Given the description of an element on the screen output the (x, y) to click on. 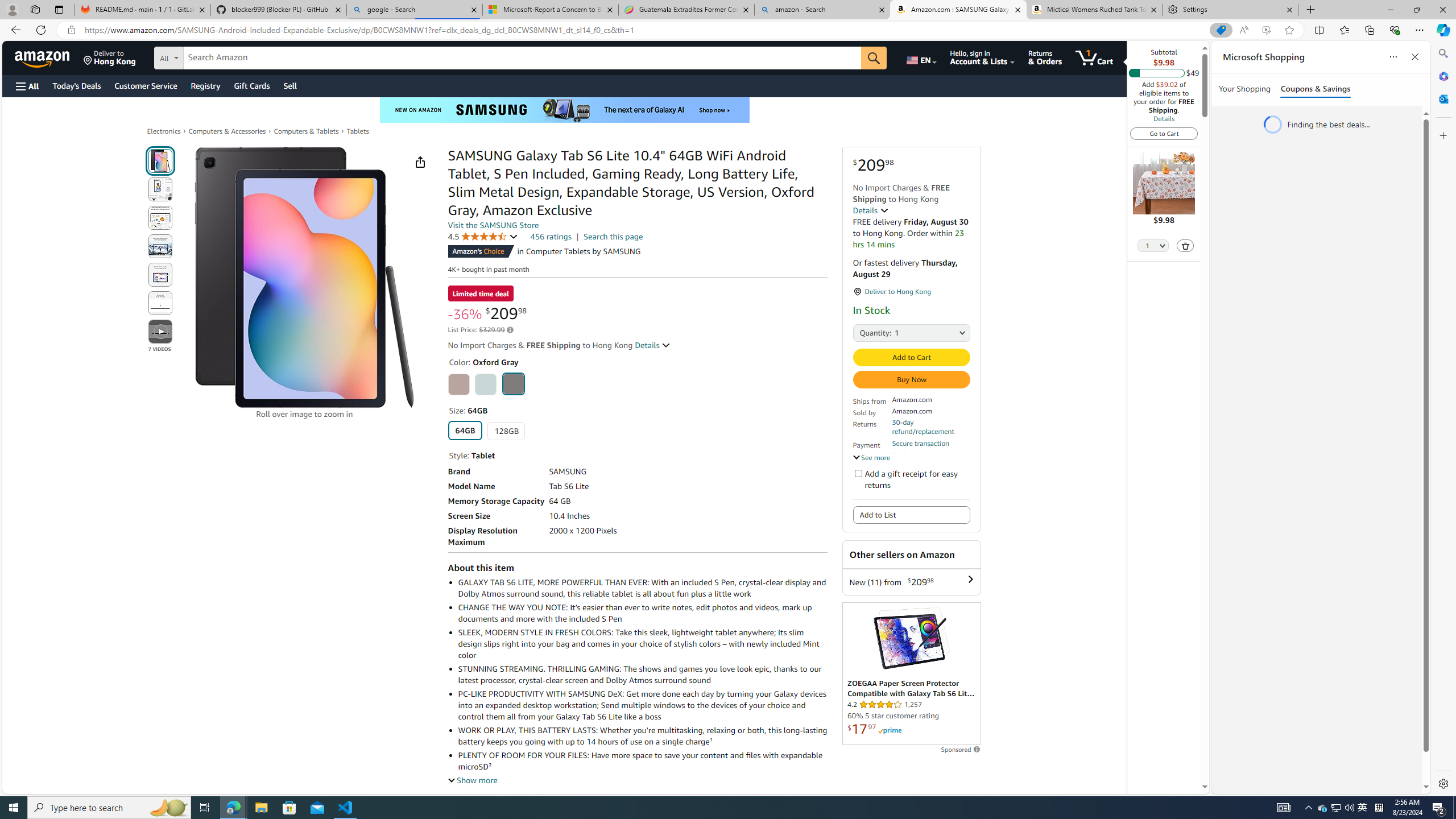
Galaxy AI is here (564, 109)
Enhance video (1266, 29)
Details (1163, 118)
30-day refund/replacement (930, 426)
1 item in cart (1094, 57)
Open Menu (26, 86)
Delete (1185, 245)
Delete (1184, 245)
Tablets (357, 130)
